Given the description of an element on the screen output the (x, y) to click on. 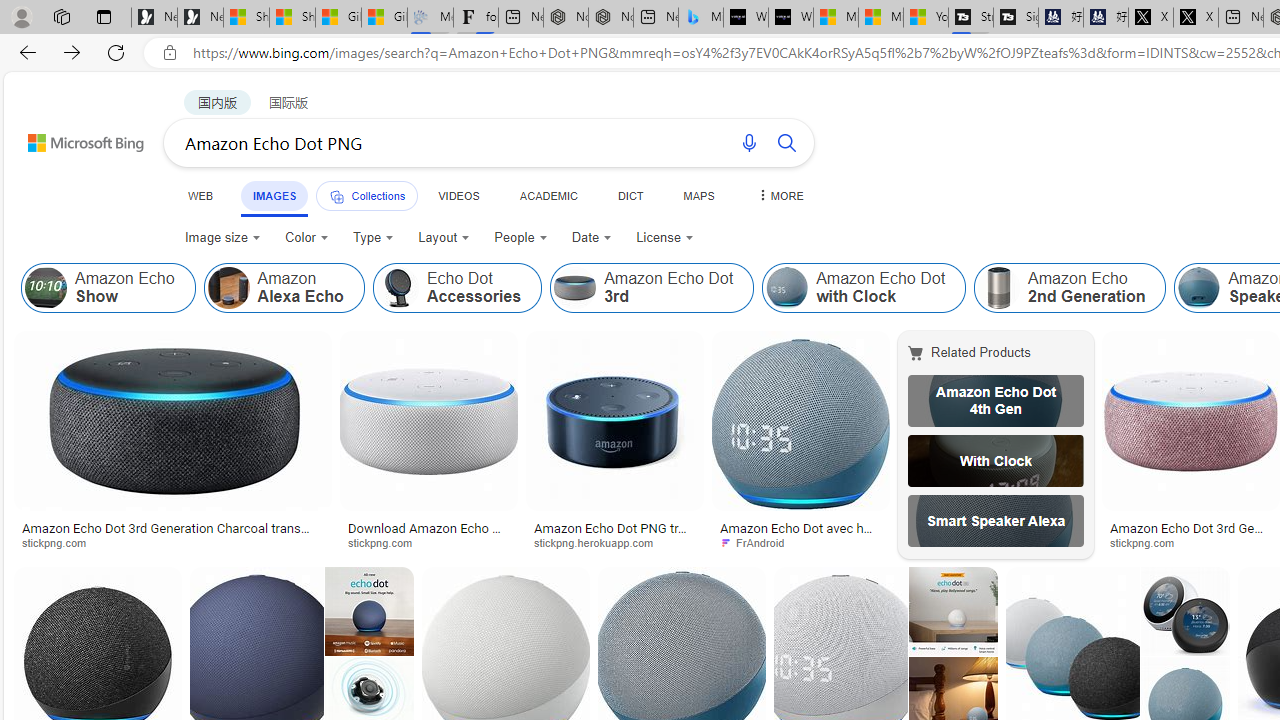
Amazon Echo Show (107, 287)
License (665, 237)
Smart Speaker Alexa (995, 521)
Amazon Echo Dot 3rd (575, 287)
Amazon Echo 2nd Generation (999, 287)
Amazon Echo Speaker (1199, 287)
Microsoft Bing Travel - Shangri-La Hotel Bangkok (700, 17)
With Clock (995, 460)
stickpng.com (1149, 541)
